Given the description of an element on the screen output the (x, y) to click on. 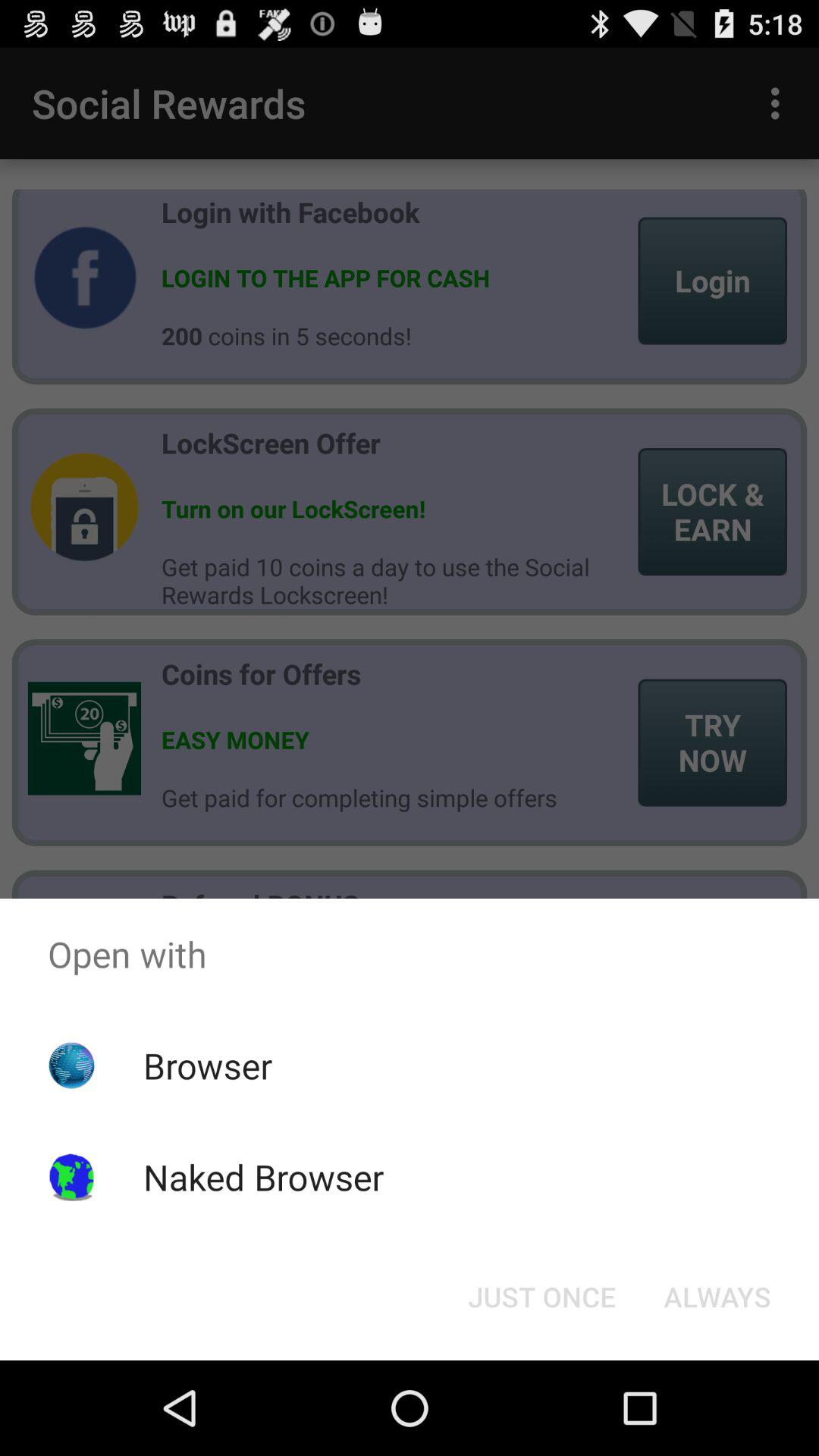
launch icon next to the just once (717, 1296)
